Given the description of an element on the screen output the (x, y) to click on. 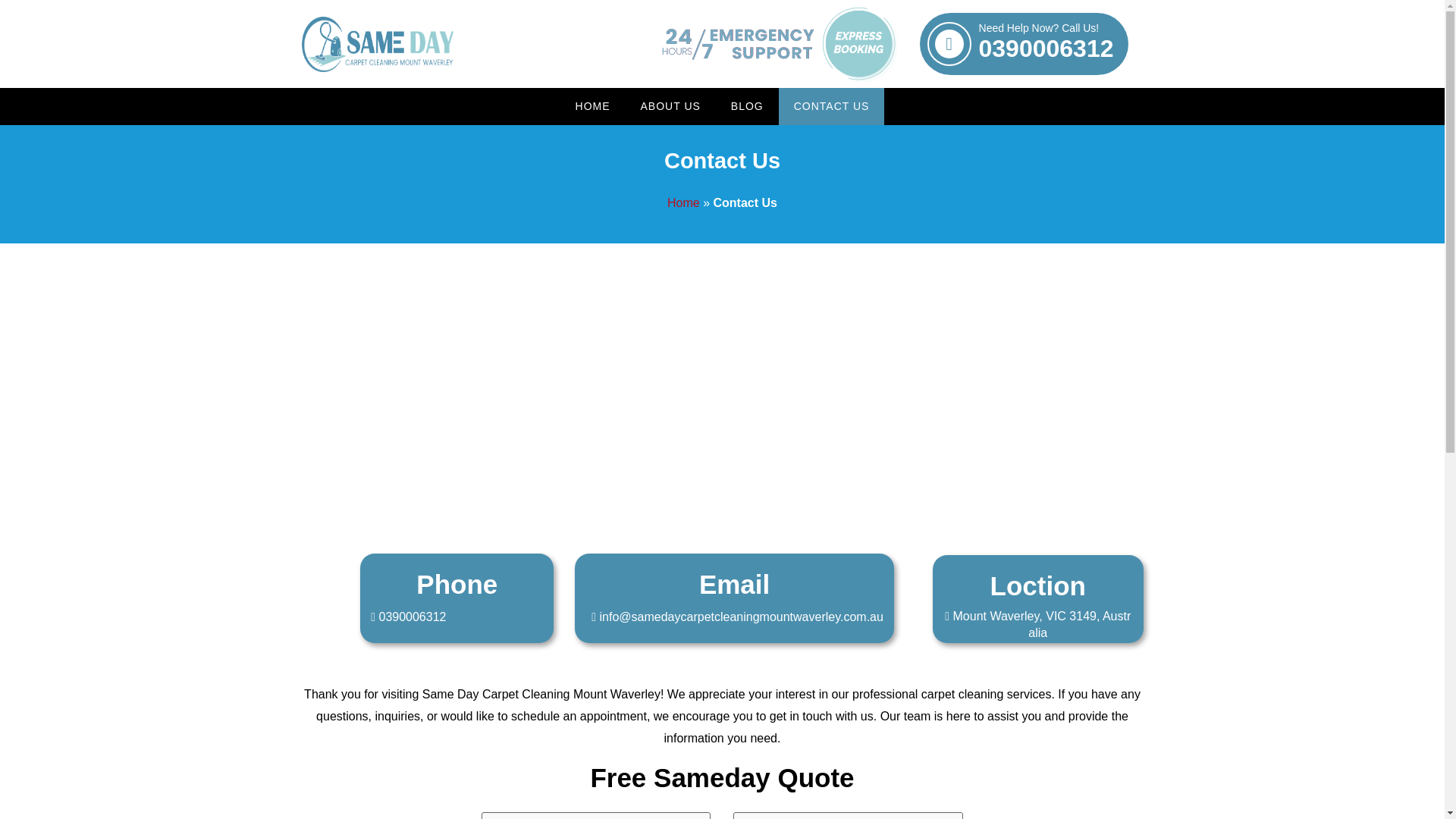
CONTACT US (831, 106)
ABOUT US (671, 106)
HOME (593, 106)
Home (1045, 43)
BLOG (683, 202)
0390006312 (747, 106)
